Given the description of an element on the screen output the (x, y) to click on. 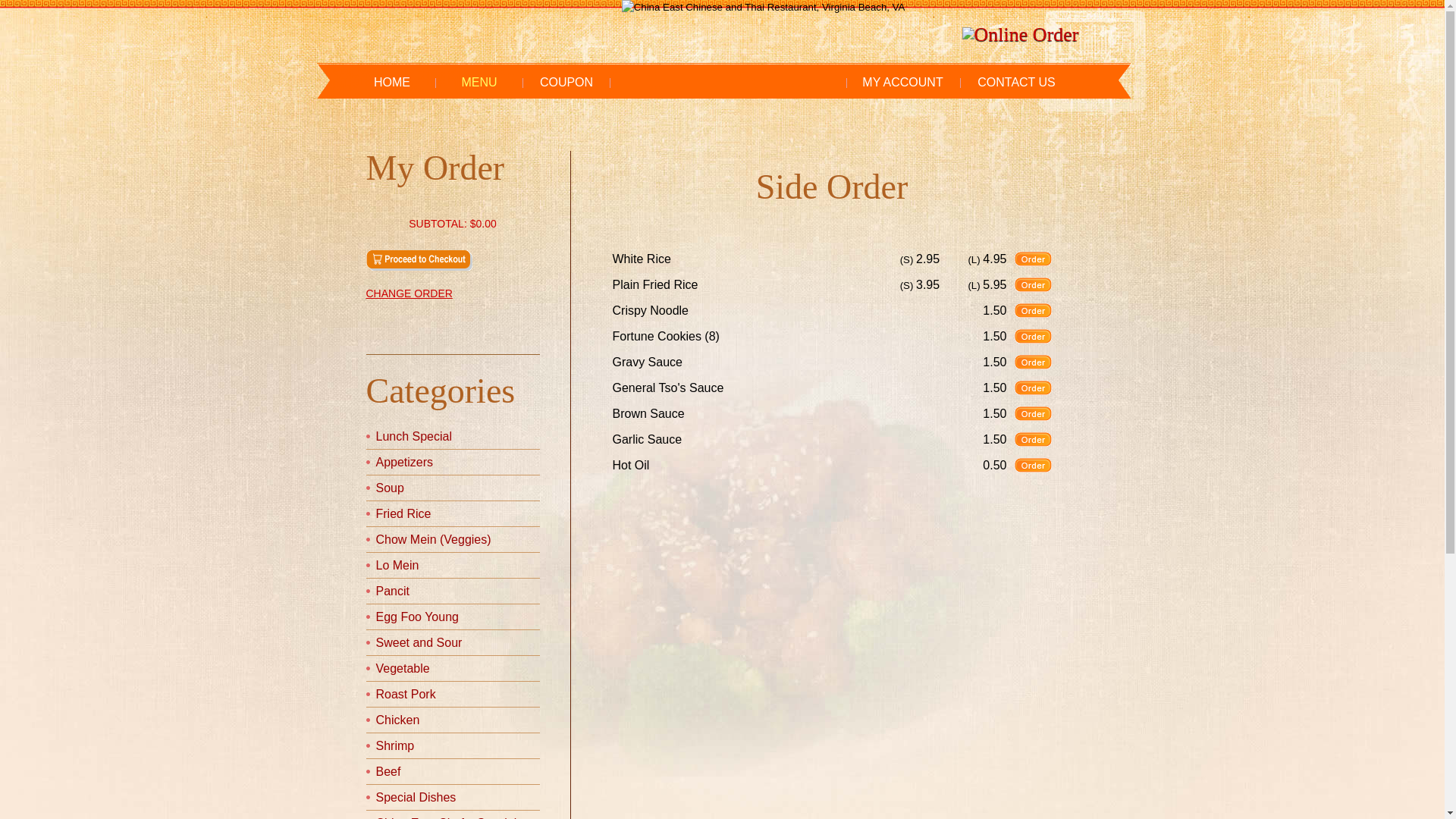
Roast Pork Element type: text (406, 693)
MY ACCOUNT Element type: text (903, 82)
Fried Rice Element type: text (403, 513)
Lunch Special Element type: text (414, 435)
Appetizers Element type: text (404, 461)
Sweet and Sour Element type: text (419, 642)
Shrimp Element type: text (395, 745)
Egg Foo Young Element type: text (417, 616)
CONTACT US Element type: text (1016, 82)
CHANGE ORDER Element type: text (452, 293)
Vegetable Element type: text (402, 668)
Beef Element type: text (388, 771)
Chow Mein (Veggies) Element type: text (433, 539)
Lo Mein Element type: text (397, 564)
Chicken Element type: text (398, 719)
Soup Element type: text (390, 487)
Special Dishes Element type: text (416, 796)
HOME Element type: text (392, 82)
Pancit Element type: text (392, 590)
COUPON Element type: text (566, 82)
MENU Element type: text (478, 82)
